Given the description of an element on the screen output the (x, y) to click on. 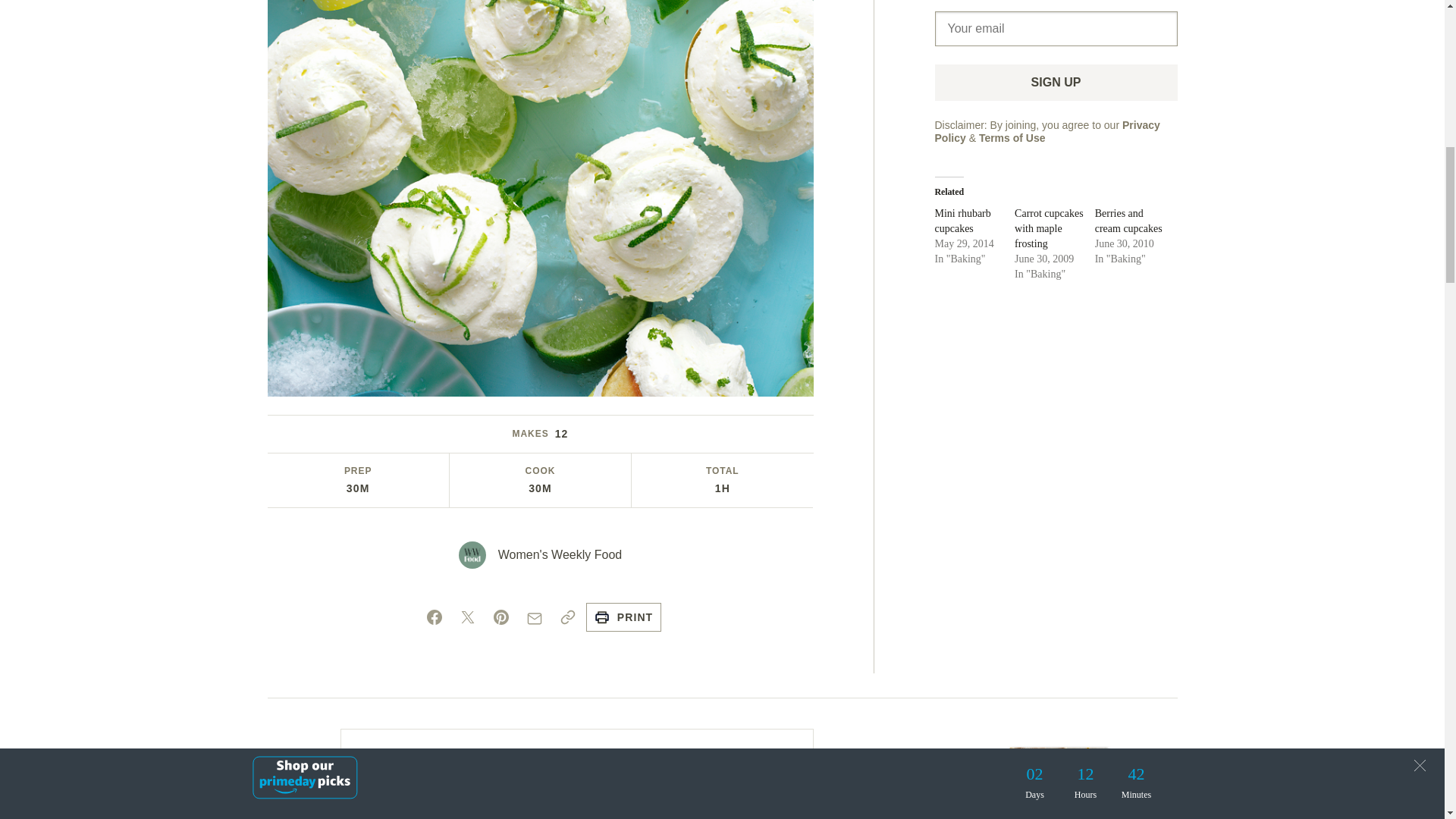
Carrot cupcakes with maple frosting (1048, 228)
Berries and cream cupcakes (1127, 221)
Mini rhubarb cupcakes (962, 221)
